Given the description of an element on the screen output the (x, y) to click on. 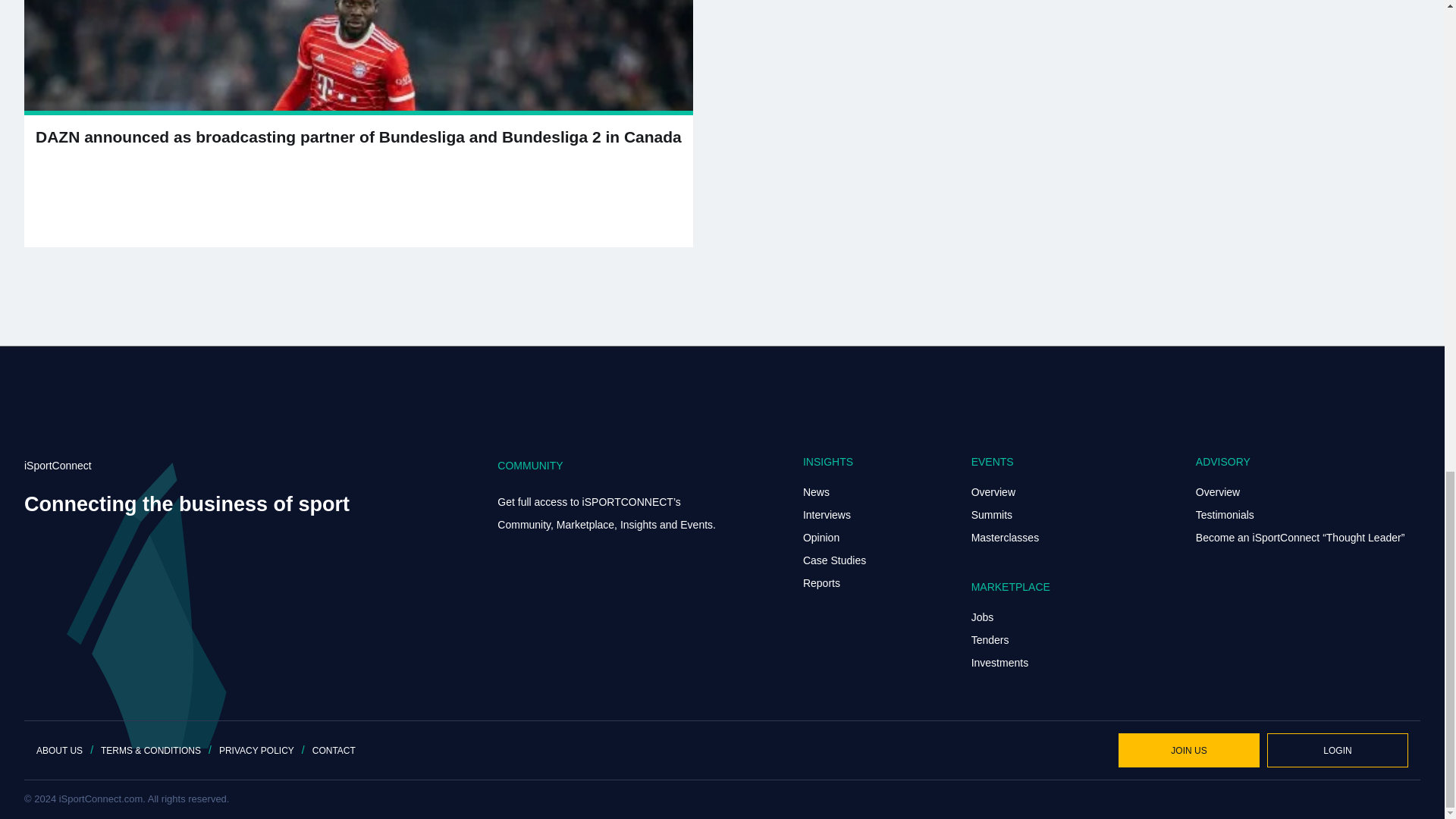
INSIGHTS (828, 461)
News (816, 491)
